Given the description of an element on the screen output the (x, y) to click on. 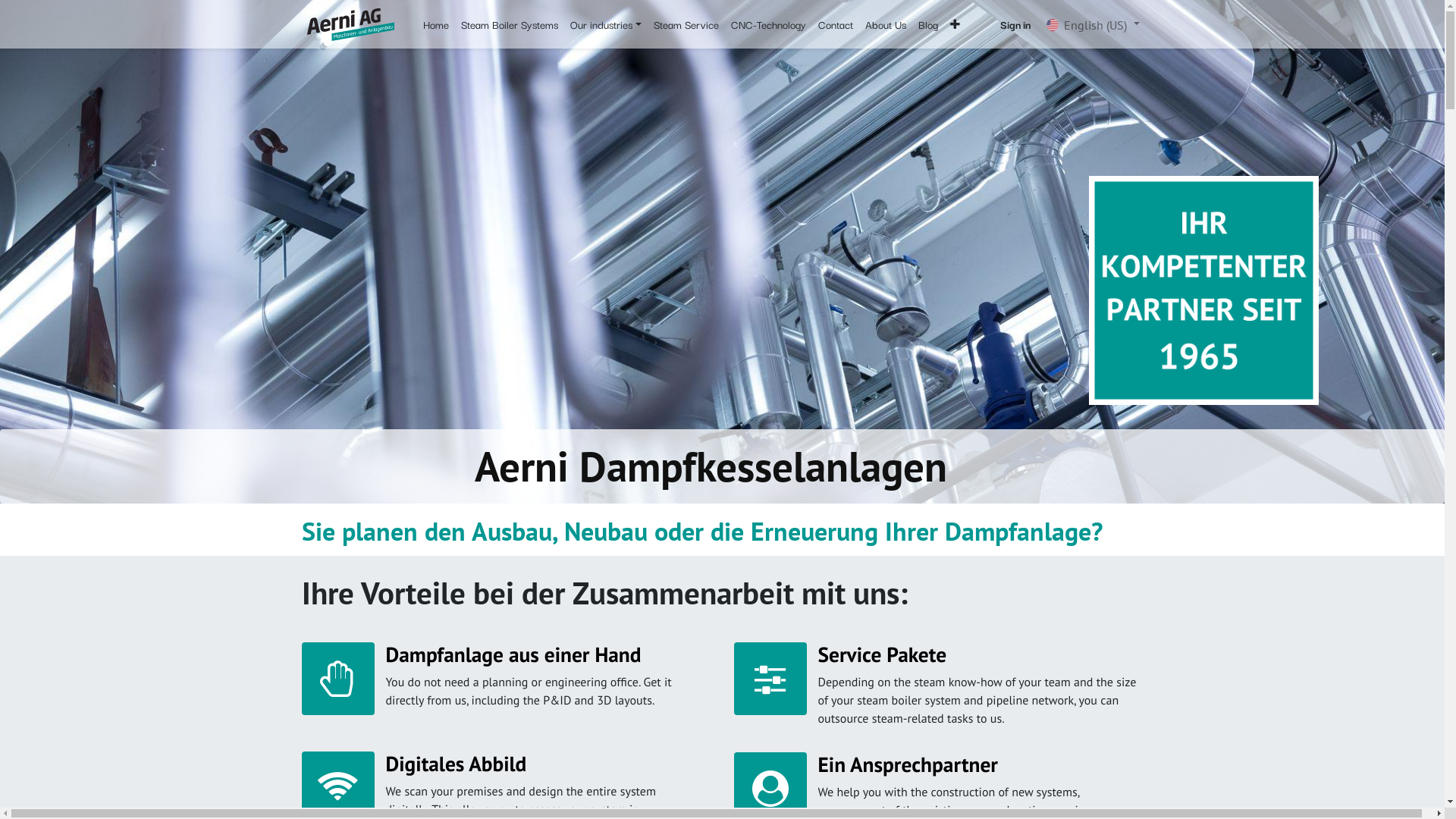
Our industries Element type: text (605, 24)
Ihr kompetenter Partner seit 1965 Element type: hover (1202, 289)
Steam Service Element type: text (685, 24)
About Us Element type: text (885, 24)
Sign in Element type: text (1015, 24)
English (US) Element type: text (1092, 23)
Blog Element type: text (928, 24)
Home Element type: text (436, 24)
Aerni Dampfanlagen Element type: hover (349, 24)
Steam Boiler Systems Element type: text (509, 24)
CNC-Technology Element type: text (768, 24)
Contact Element type: text (835, 24)
